Given the description of an element on the screen output the (x, y) to click on. 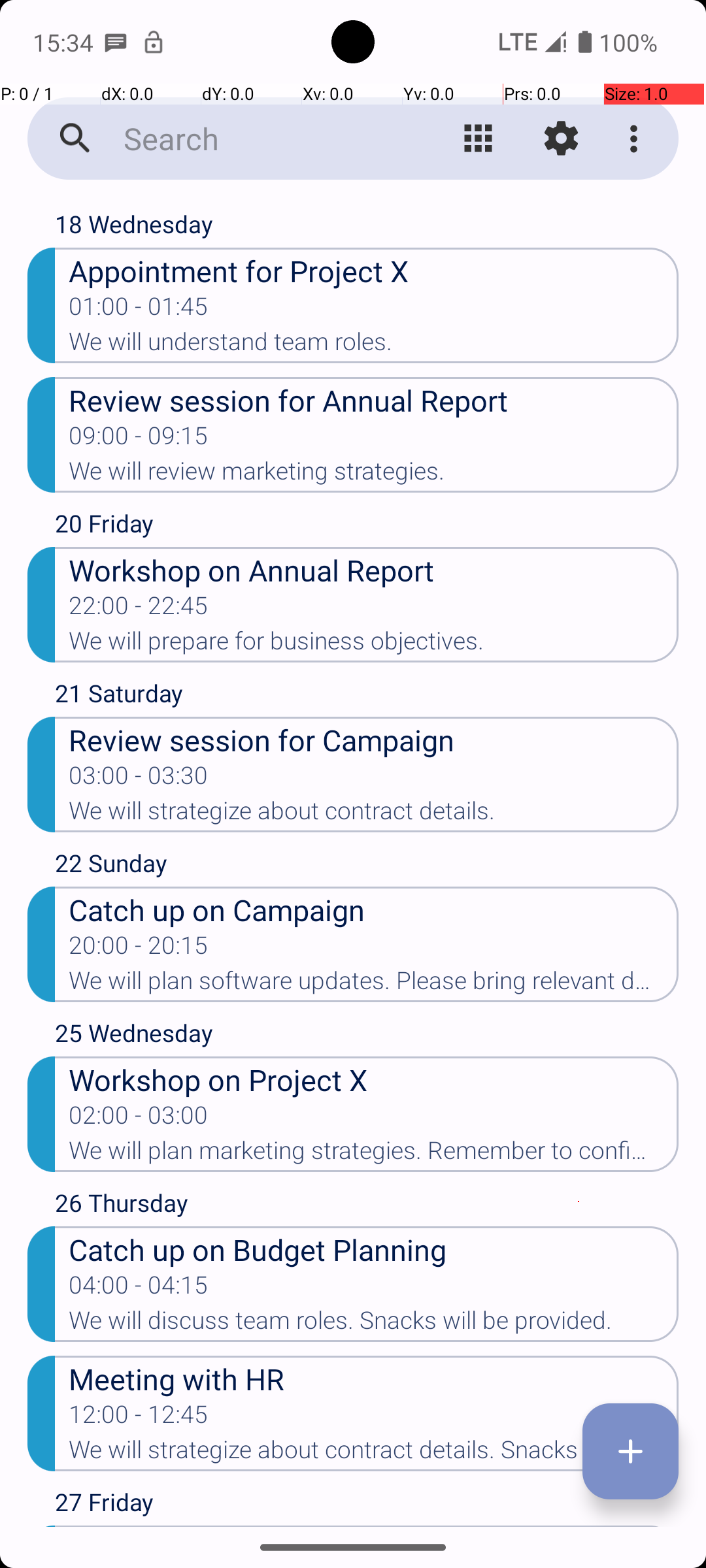
18 Wednesday Element type: android.widget.TextView (366, 227)
20 Friday Element type: android.widget.TextView (366, 526)
21 Saturday Element type: android.widget.TextView (366, 696)
22 Sunday Element type: android.widget.TextView (366, 866)
25 Wednesday Element type: android.widget.TextView (366, 1035)
26 Thursday Element type: android.widget.TextView (366, 1205)
27 Friday Element type: android.widget.TextView (366, 1505)
01:00 - 01:45 Element type: android.widget.TextView (137, 309)
We will understand team roles. Element type: android.widget.TextView (373, 345)
09:00 - 09:15 Element type: android.widget.TextView (137, 439)
We will review marketing strategies. Element type: android.widget.TextView (373, 474)
22:00 - 22:45 Element type: android.widget.TextView (137, 609)
We will prepare for business objectives. Element type: android.widget.TextView (373, 644)
03:00 - 03:30 Element type: android.widget.TextView (137, 779)
We will strategize about contract details. Element type: android.widget.TextView (373, 814)
20:00 - 20:15 Element type: android.widget.TextView (137, 948)
We will plan software updates. Please bring relevant documents. Element type: android.widget.TextView (373, 984)
Workshop on Project X Element type: android.widget.TextView (373, 1078)
02:00 - 03:00 Element type: android.widget.TextView (137, 1118)
We will plan marketing strategies. Remember to confirm attendance. Element type: android.widget.TextView (373, 1154)
Catch up on Budget Planning Element type: android.widget.TextView (373, 1248)
04:00 - 04:15 Element type: android.widget.TextView (137, 1288)
We will discuss team roles. Snacks will be provided. Element type: android.widget.TextView (373, 1323)
12:00 - 12:45 Element type: android.widget.TextView (137, 1418)
We will strategize about contract details. Snacks will be provided. Element type: android.widget.TextView (373, 1453)
Meeting with Dr. Smith Element type: android.widget.TextView (373, 1525)
